Given the description of an element on the screen output the (x, y) to click on. 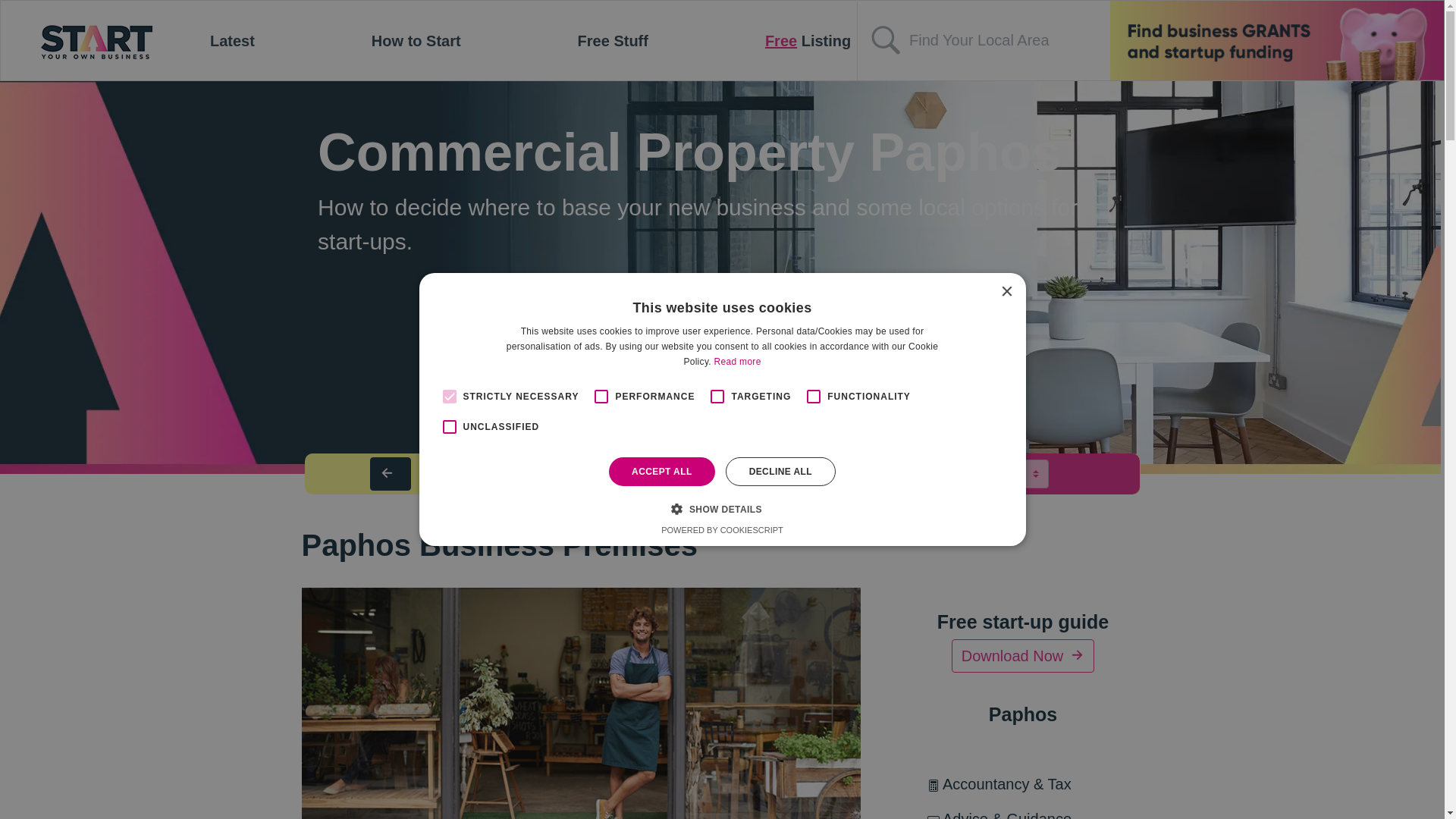
Latest (231, 40)
How to Start (416, 40)
Download Now (1023, 655)
Free Stuff (612, 40)
Free Listing (807, 40)
Consent Management Platform (722, 529)
